Given the description of an element on the screen output the (x, y) to click on. 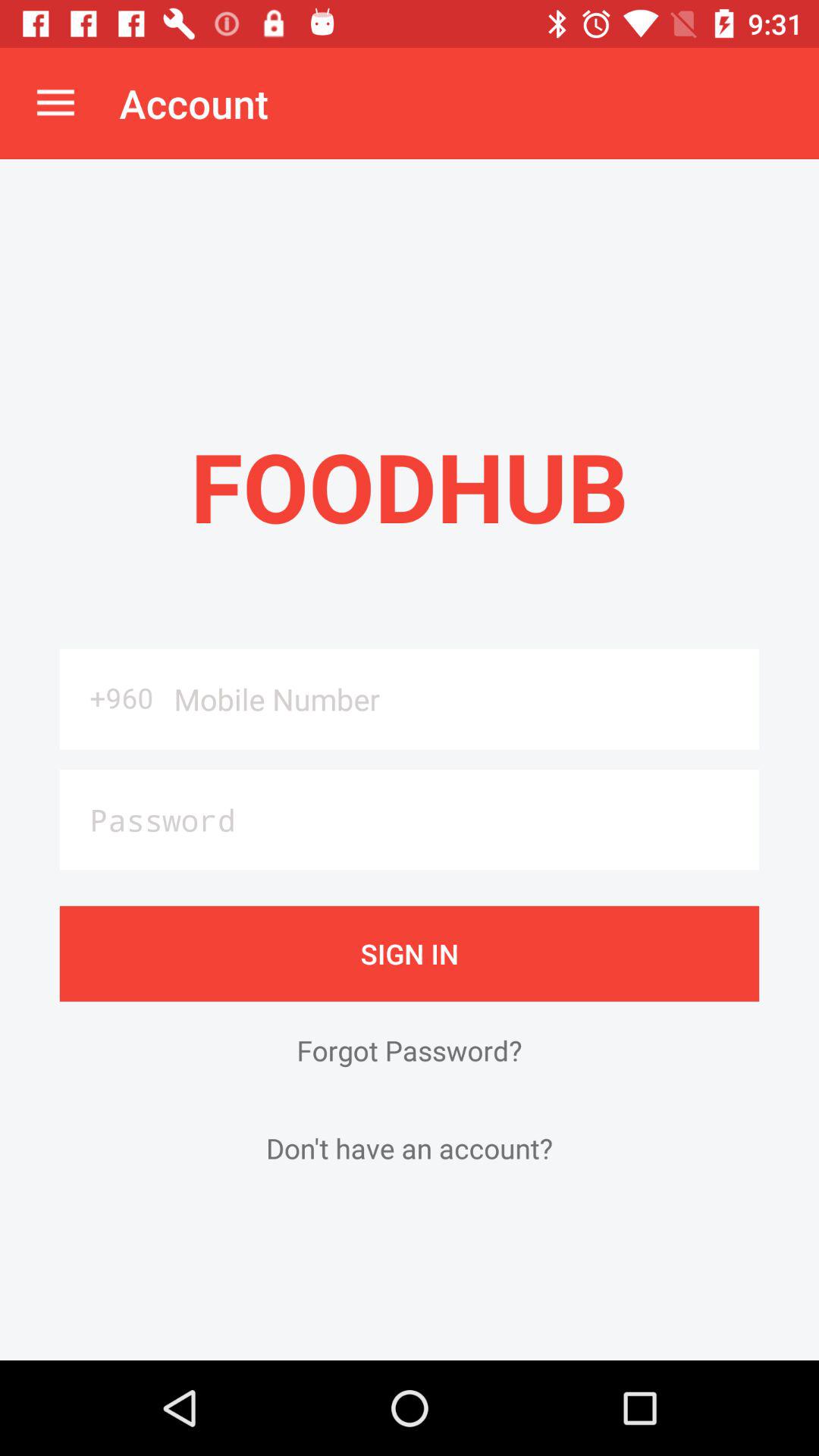
enter your password (409, 819)
